Given the description of an element on the screen output the (x, y) to click on. 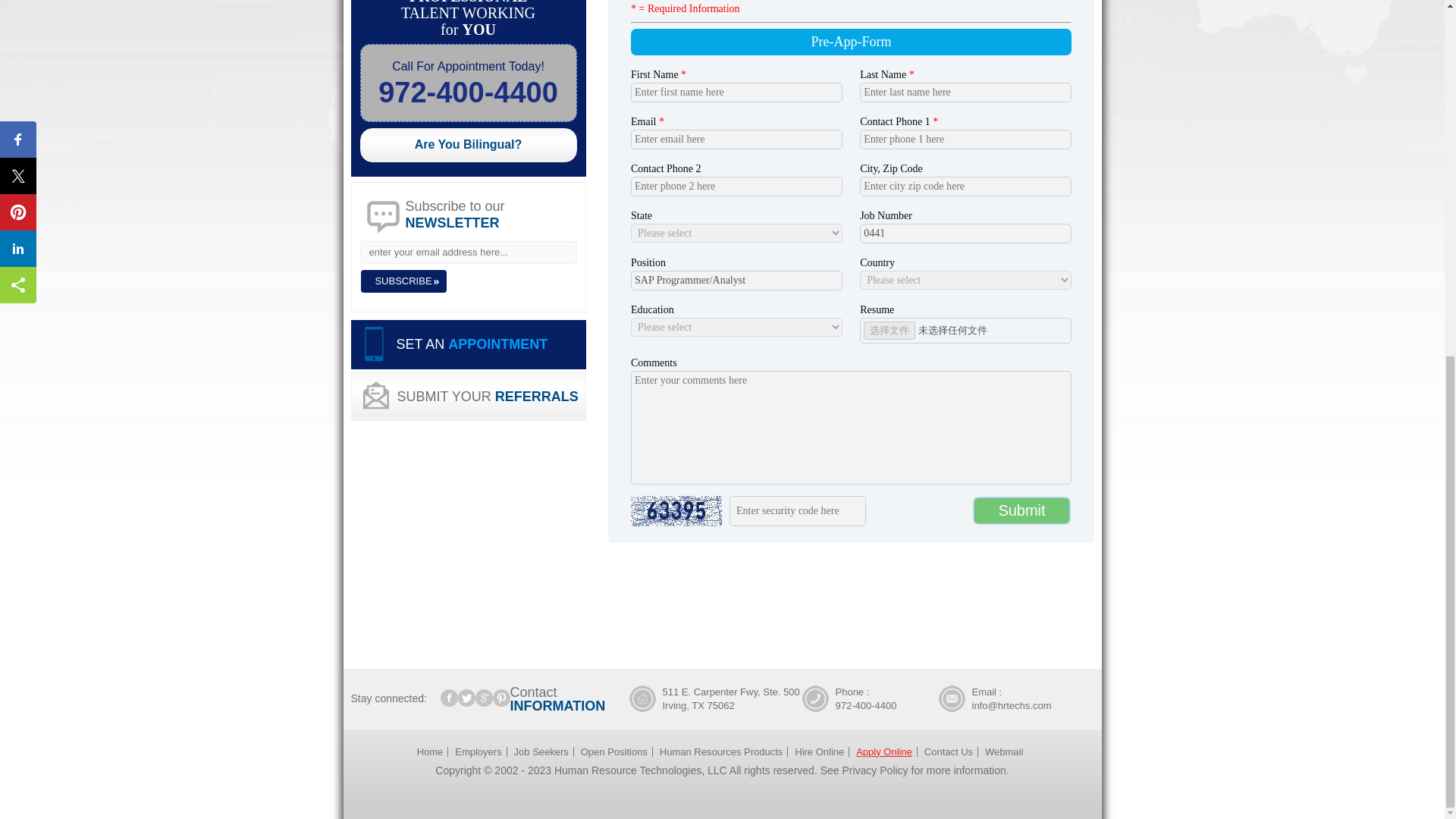
SET AN APPOINTMENT (467, 344)
SUBMIT YOUR REFERRALS (467, 395)
Open Positions (614, 751)
Apply Online (884, 751)
Webmail (1003, 751)
Contact Us (948, 751)
Privacy Policy (874, 770)
SUBSCRIBE (403, 281)
Hire Online (819, 751)
Home (432, 751)
